Given the description of an element on the screen output the (x, y) to click on. 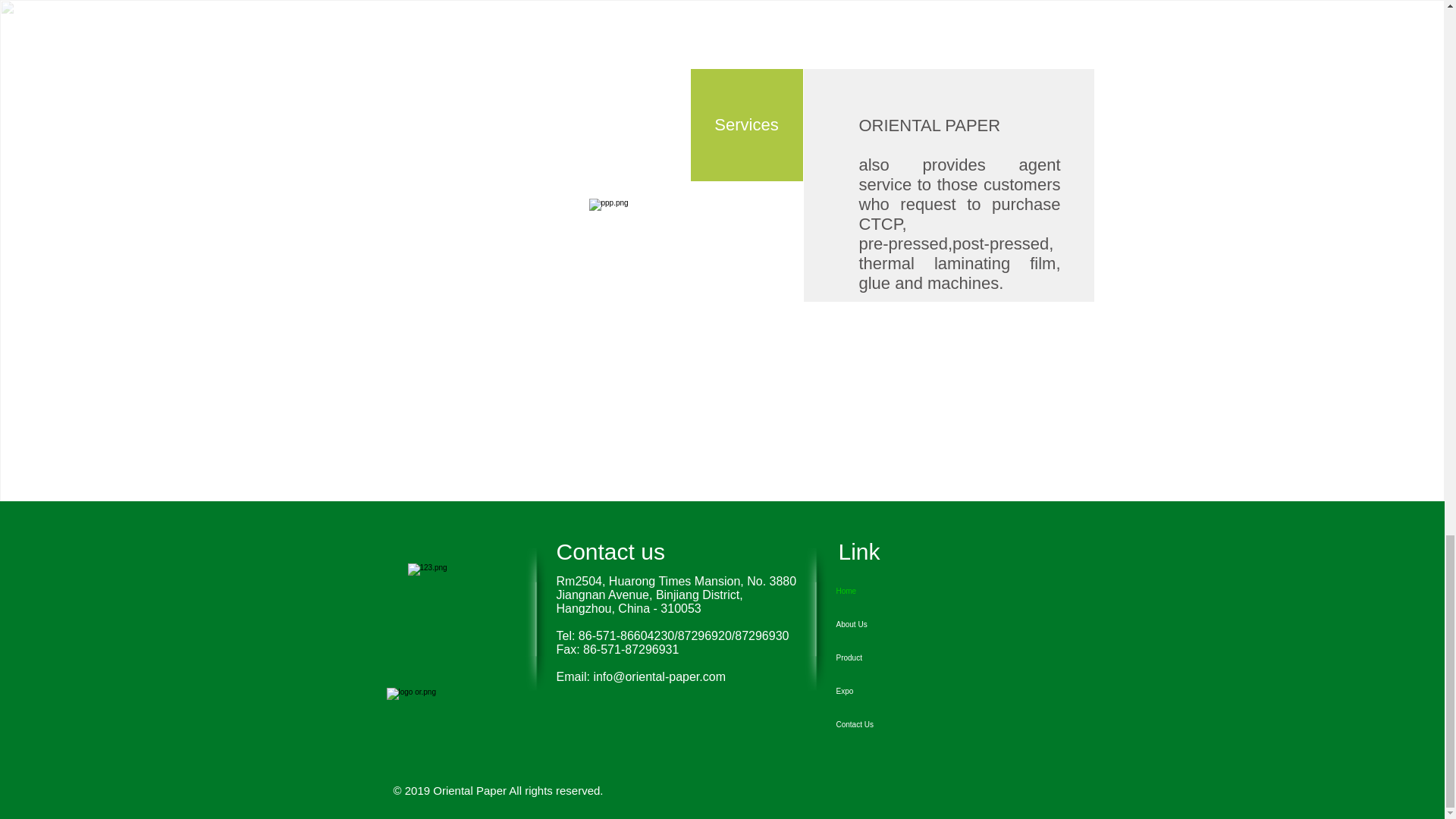
About Us (885, 624)
Expo (885, 691)
Services (746, 124)
Home (885, 591)
Product (885, 657)
ORIENTAL PAPER (929, 125)
Contact Us (885, 725)
